Given the description of an element on the screen output the (x, y) to click on. 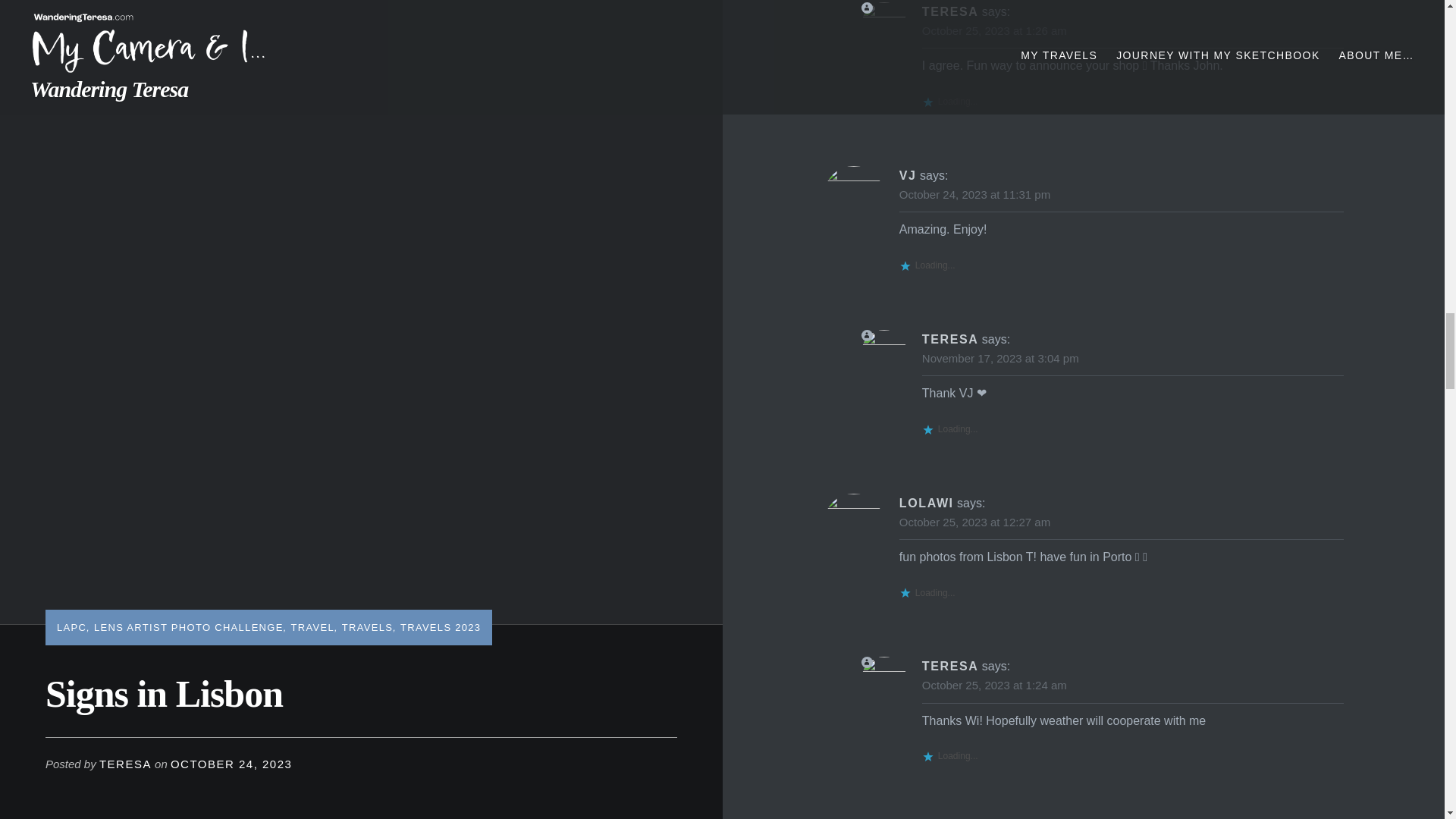
October 24, 2023 at 11:31 pm (974, 194)
October 25, 2023 at 1:26 am (994, 30)
TERESA (949, 11)
VJ (908, 174)
November 17, 2023 at 3:04 pm (999, 358)
LOLAWI (926, 502)
